Given the description of an element on the screen output the (x, y) to click on. 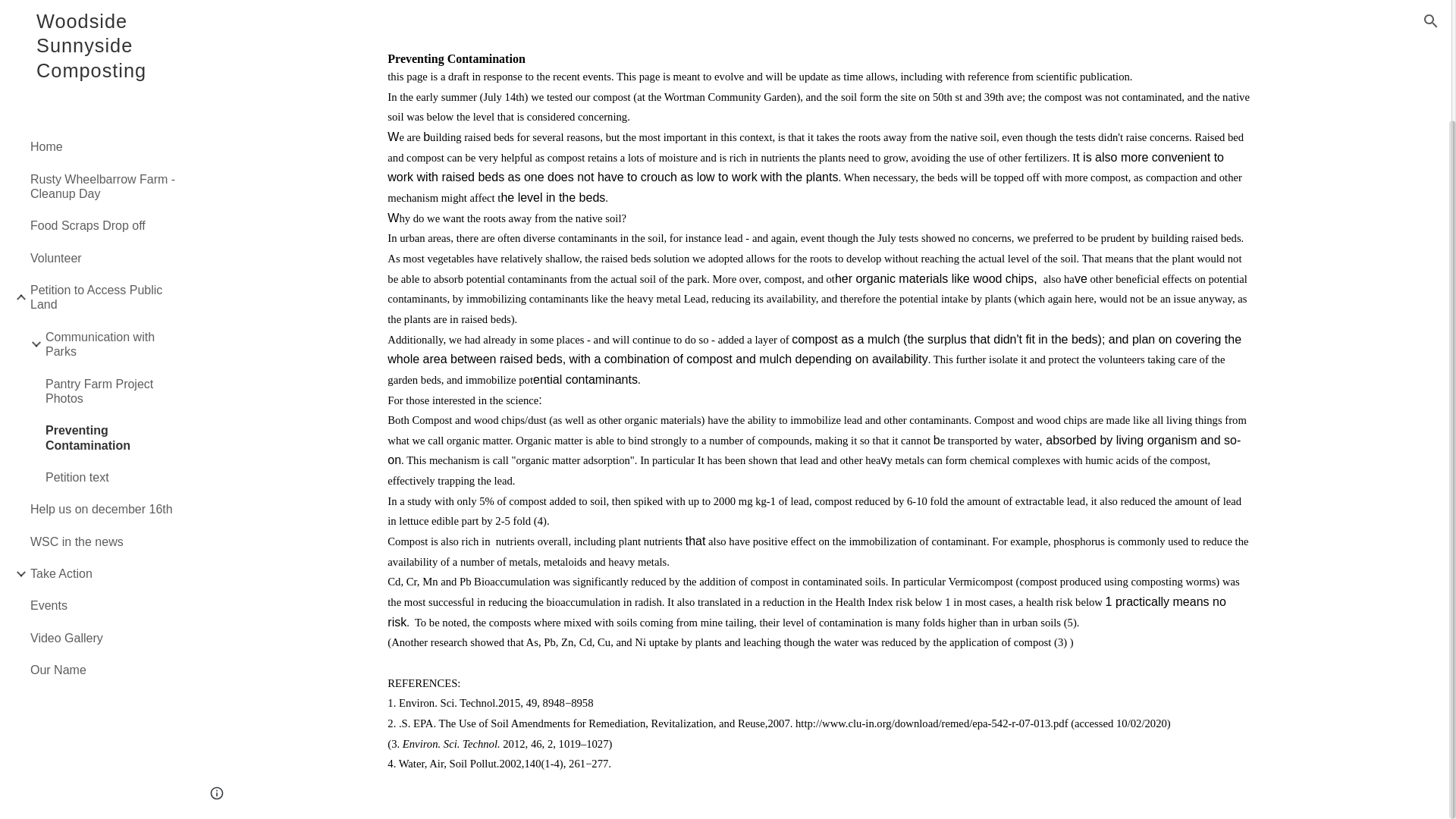
Food Scraps Drop off (103, 84)
Rusty Wheelbarrow Farm - Cleanup Day (103, 45)
Video Gallery (103, 496)
Pantry Farm Project Photos (111, 249)
Preventing Contamination (111, 297)
WSC in the news (103, 400)
Petition to Access Public Land (103, 156)
Help us on december 16th (103, 368)
Take Action (103, 432)
Volunteer (103, 116)
Our Name (103, 529)
Communication with Parks (111, 202)
Home (103, 11)
Events (103, 464)
Petition text (111, 336)
